Given the description of an element on the screen output the (x, y) to click on. 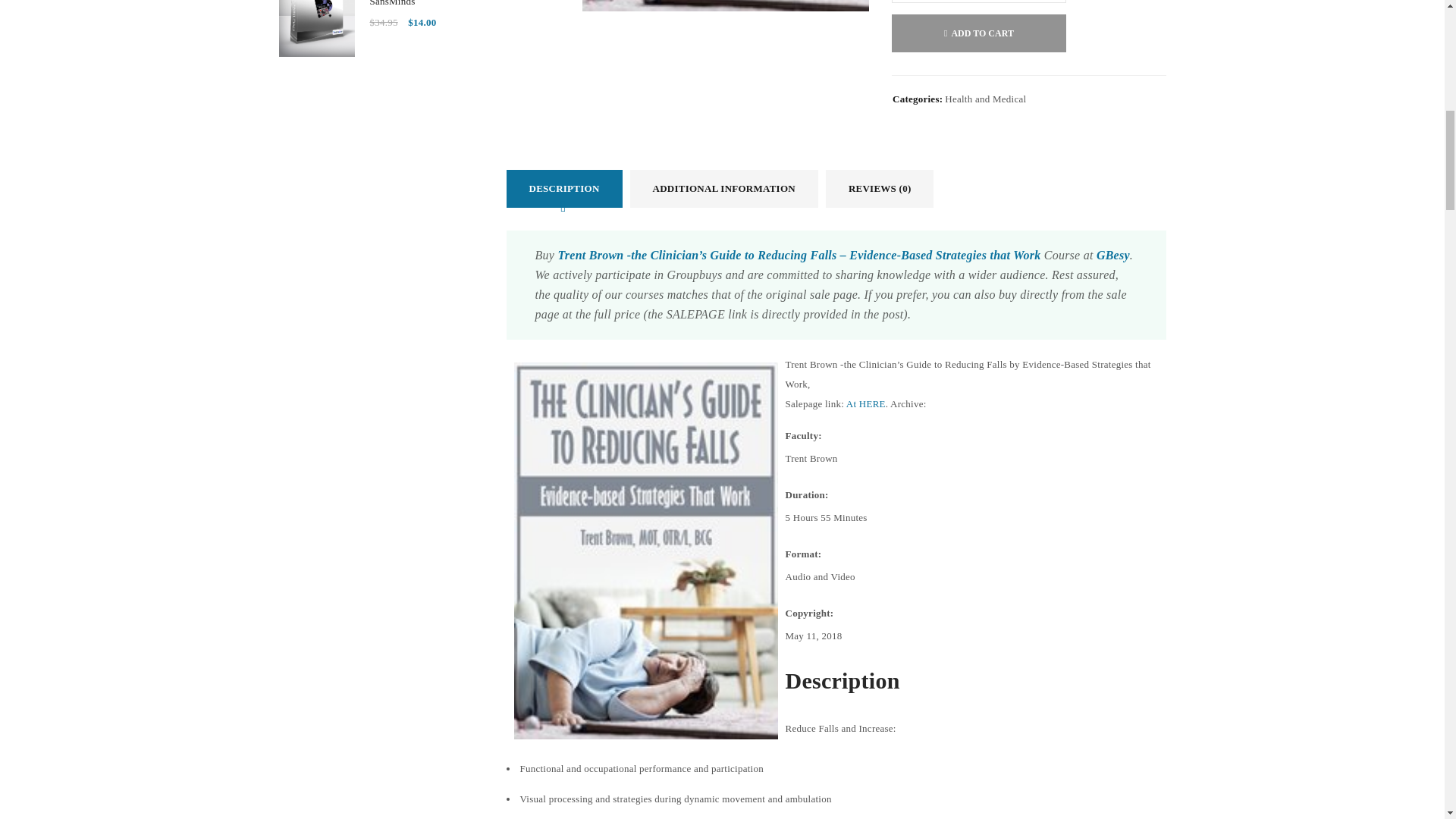
Imprint by Jason Yu and SansMinds (426, 4)
Imprint by Jason Yu and SansMinds (317, 28)
1 (978, 1)
Qty (978, 1)
